Given the description of an element on the screen output the (x, y) to click on. 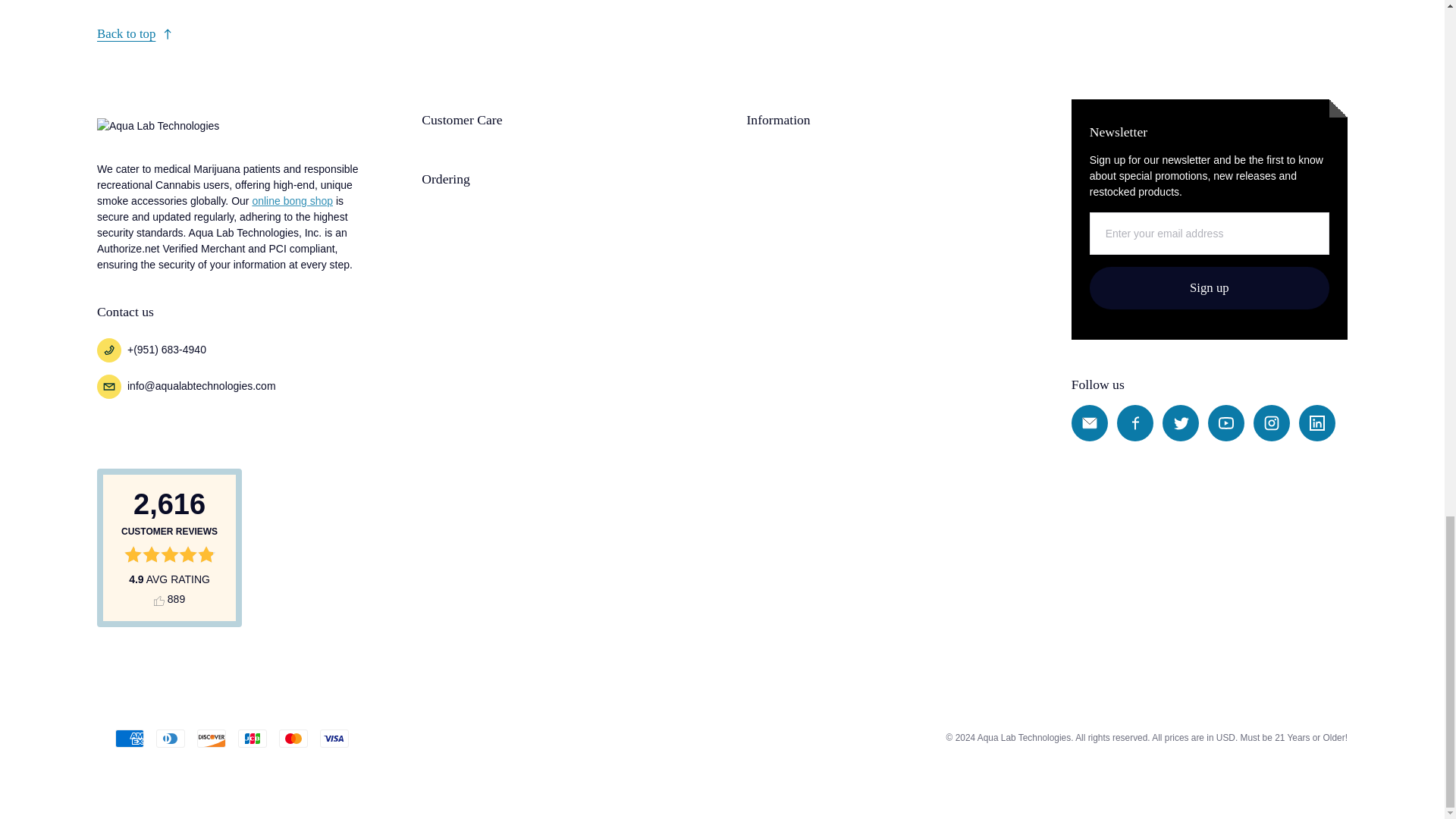
Instagram (1271, 422)
Youtube (1226, 422)
Linkedin (1316, 422)
Twitter (1179, 422)
